Given the description of an element on the screen output the (x, y) to click on. 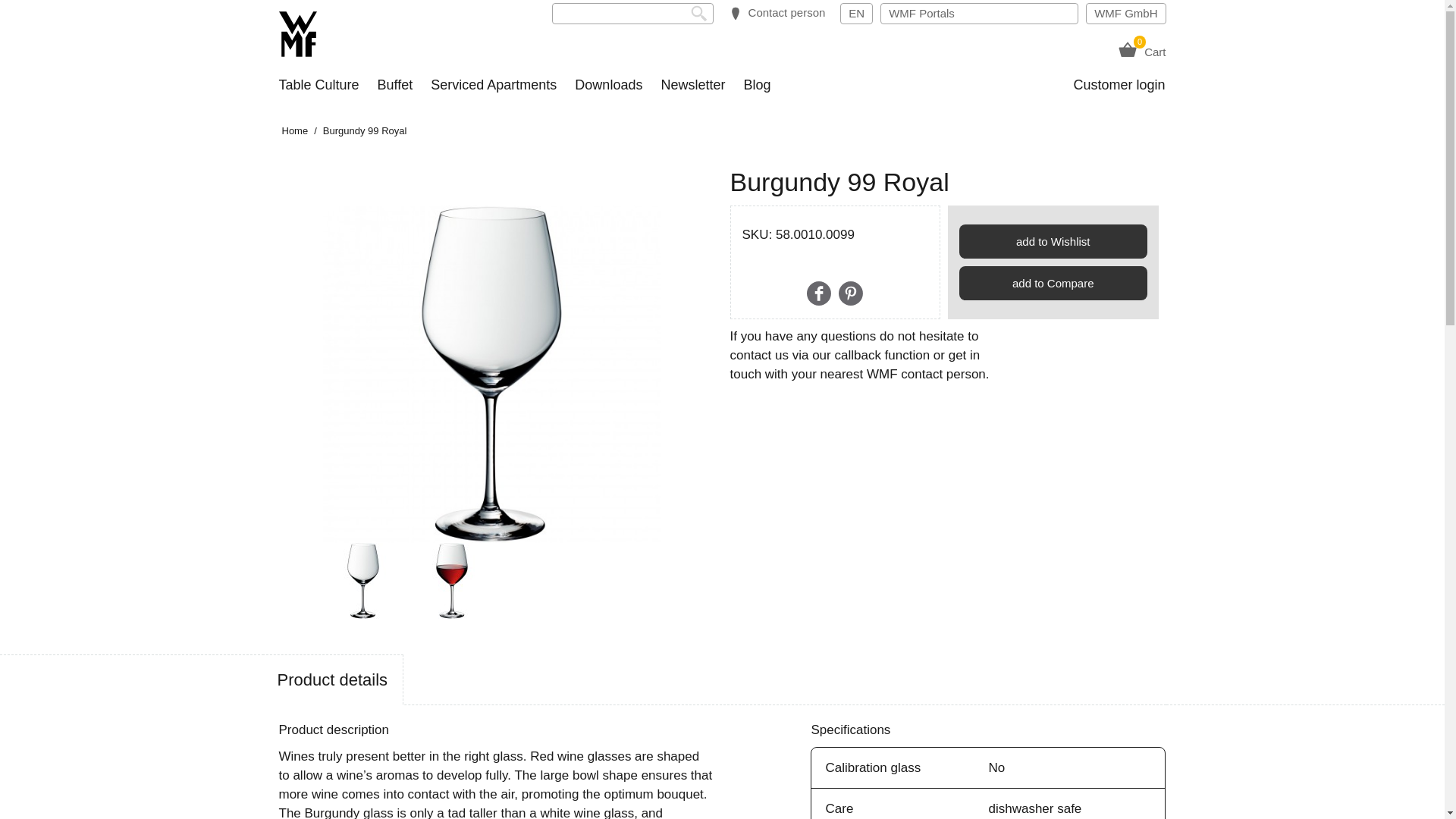
Contact person (776, 13)
Search (702, 14)
WMF Portals (978, 13)
Go to Home Page (295, 130)
WMF GmbH (1125, 13)
Burgundy 99 Royal (492, 373)
EN (1141, 52)
Table Culture (856, 13)
